Given the description of an element on the screen output the (x, y) to click on. 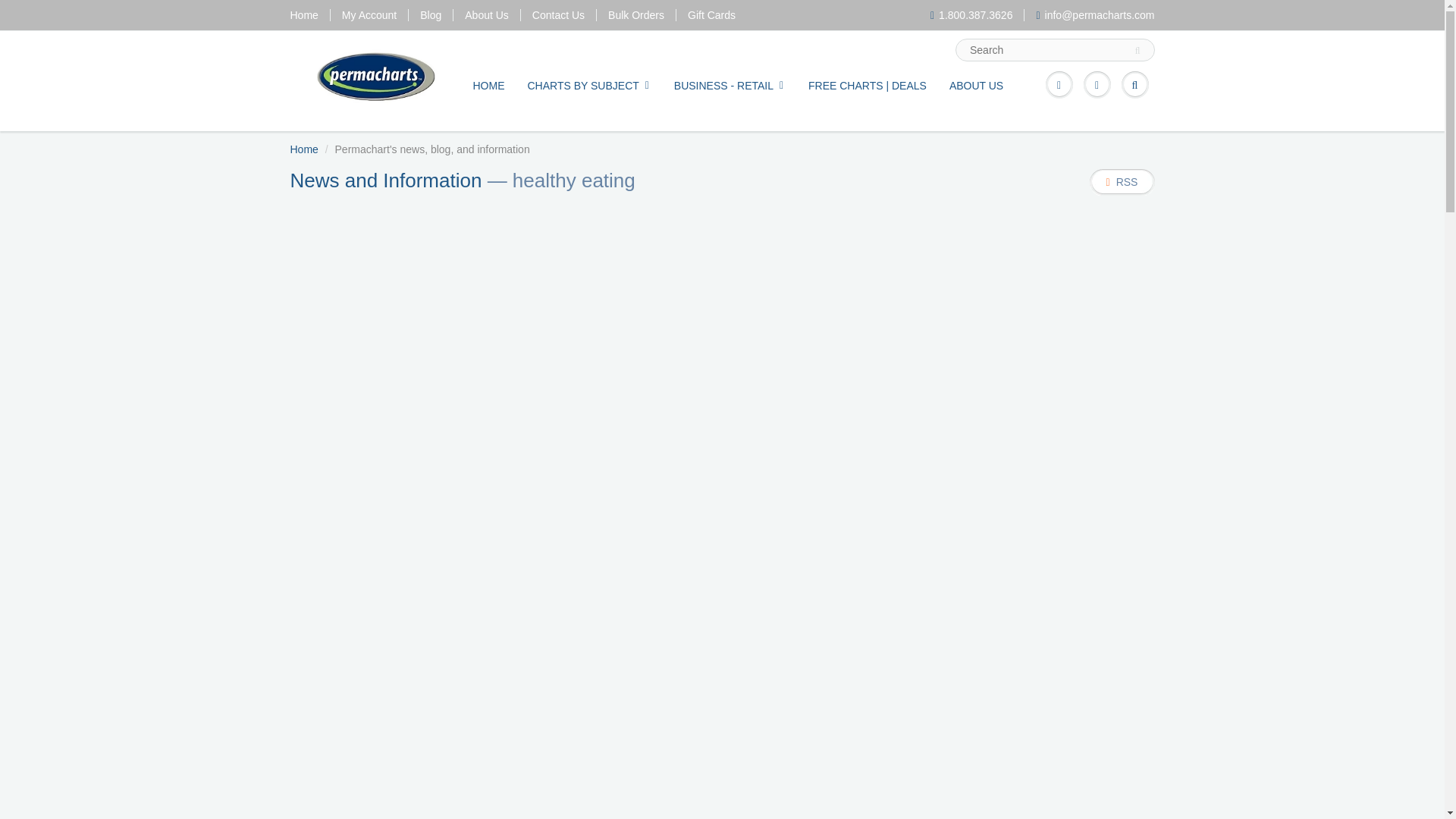
Home (303, 149)
Home (303, 15)
Gift Cards (711, 15)
My Account (369, 15)
1.800.387.3626 (970, 15)
Blog (430, 15)
HOME (488, 85)
Contact Us (558, 15)
Bulk Orders (635, 15)
About Us (486, 15)
